Given the description of an element on the screen output the (x, y) to click on. 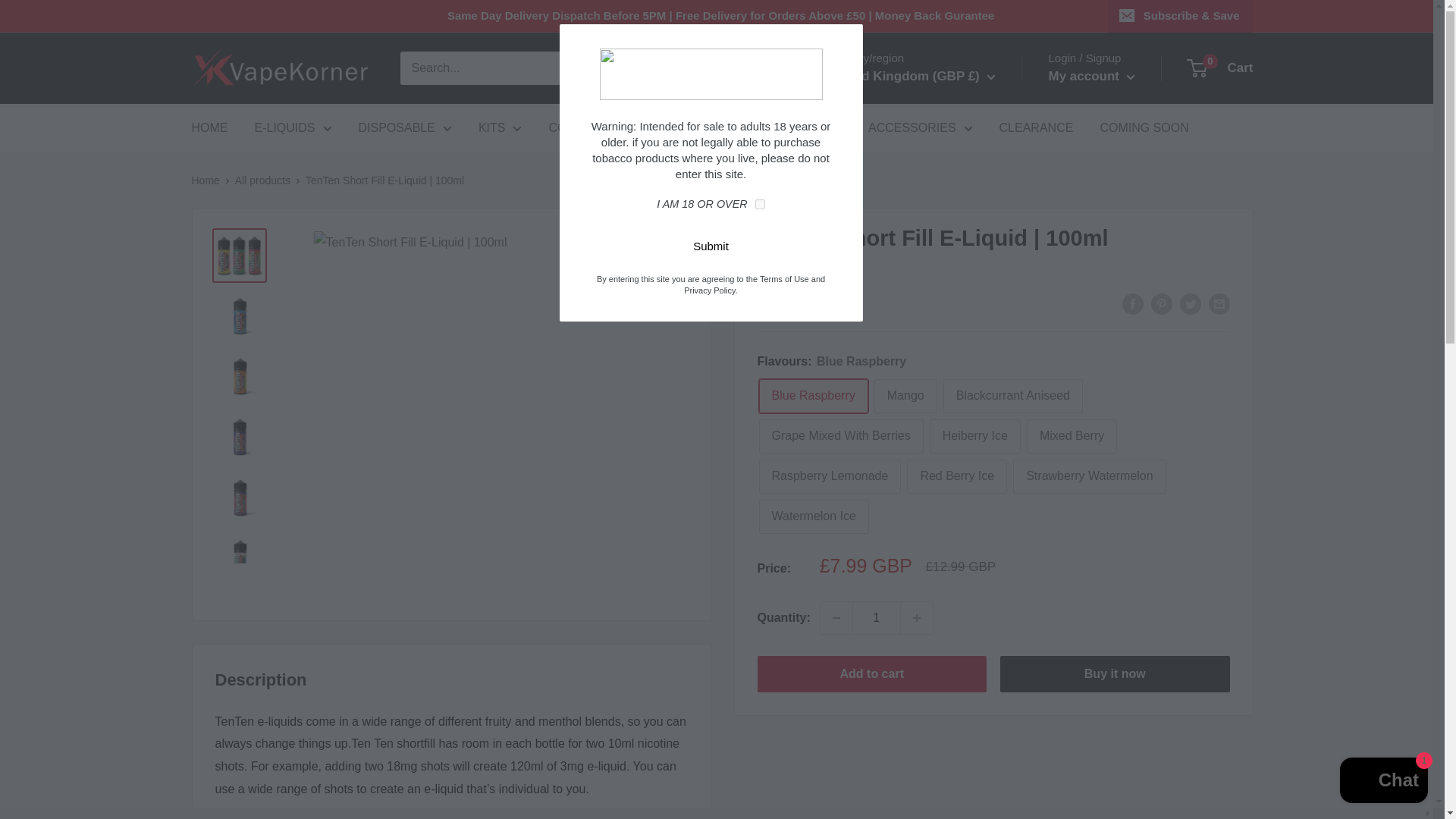
Blue Raspberry (812, 396)
Submit (711, 245)
Increase quantity by 1 (917, 617)
Raspberry Lemonade (829, 476)
Blackcurrant Aniseed (1013, 396)
Heiberry Ice (975, 436)
Submit (711, 245)
Watermelon Ice (812, 516)
Mixed Berry (1071, 436)
on (760, 204)
1 (876, 617)
Strawberry Watermelon (1089, 476)
Red Berry Ice (957, 476)
Decrease quantity by 1 (836, 617)
Grape Mixed With Berries (840, 436)
